Given the description of an element on the screen output the (x, y) to click on. 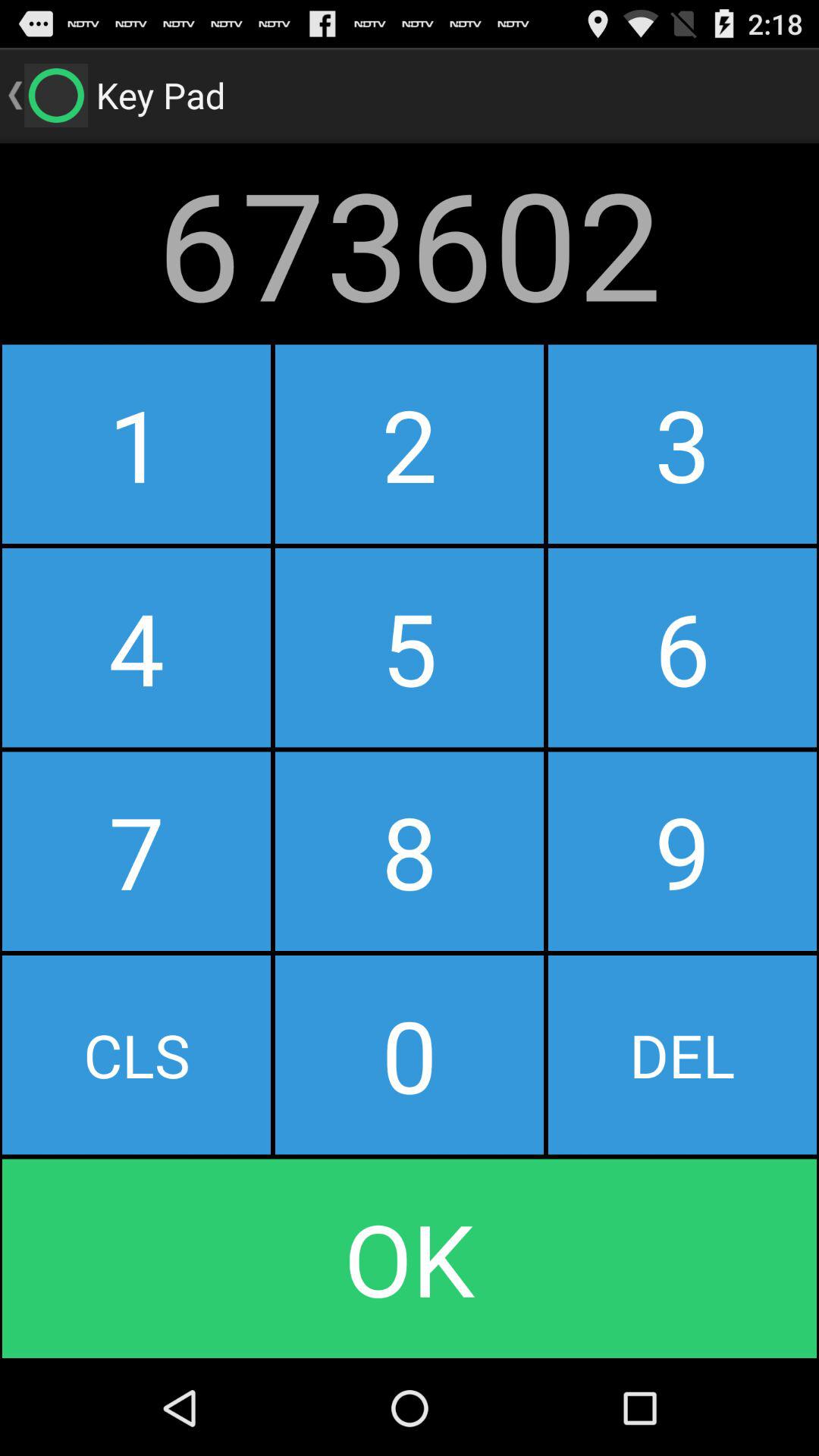
click the button to the left of the 2 icon (136, 647)
